Given the description of an element on the screen output the (x, y) to click on. 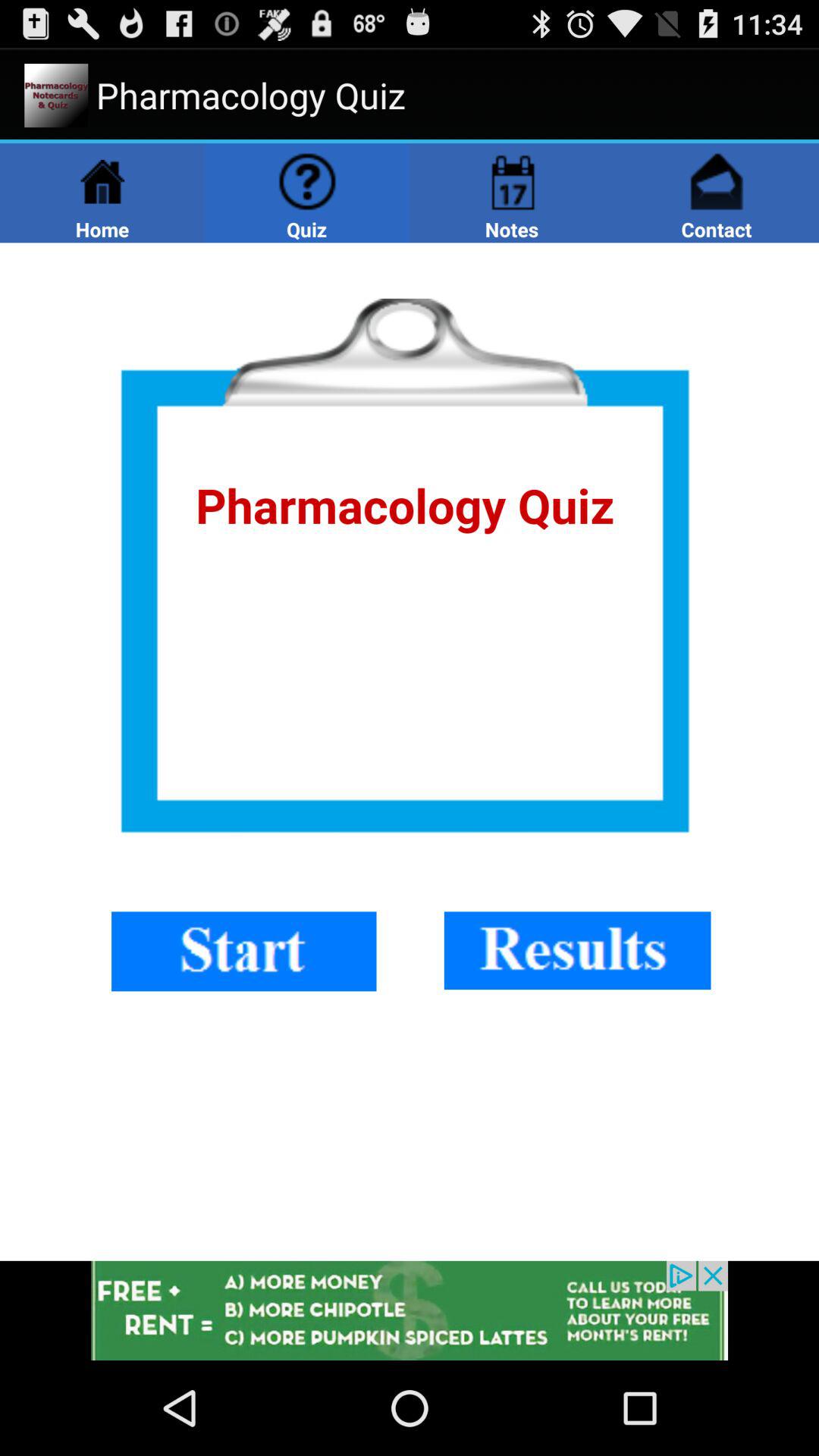
pharmacology app (409, 751)
